Given the description of an element on the screen output the (x, y) to click on. 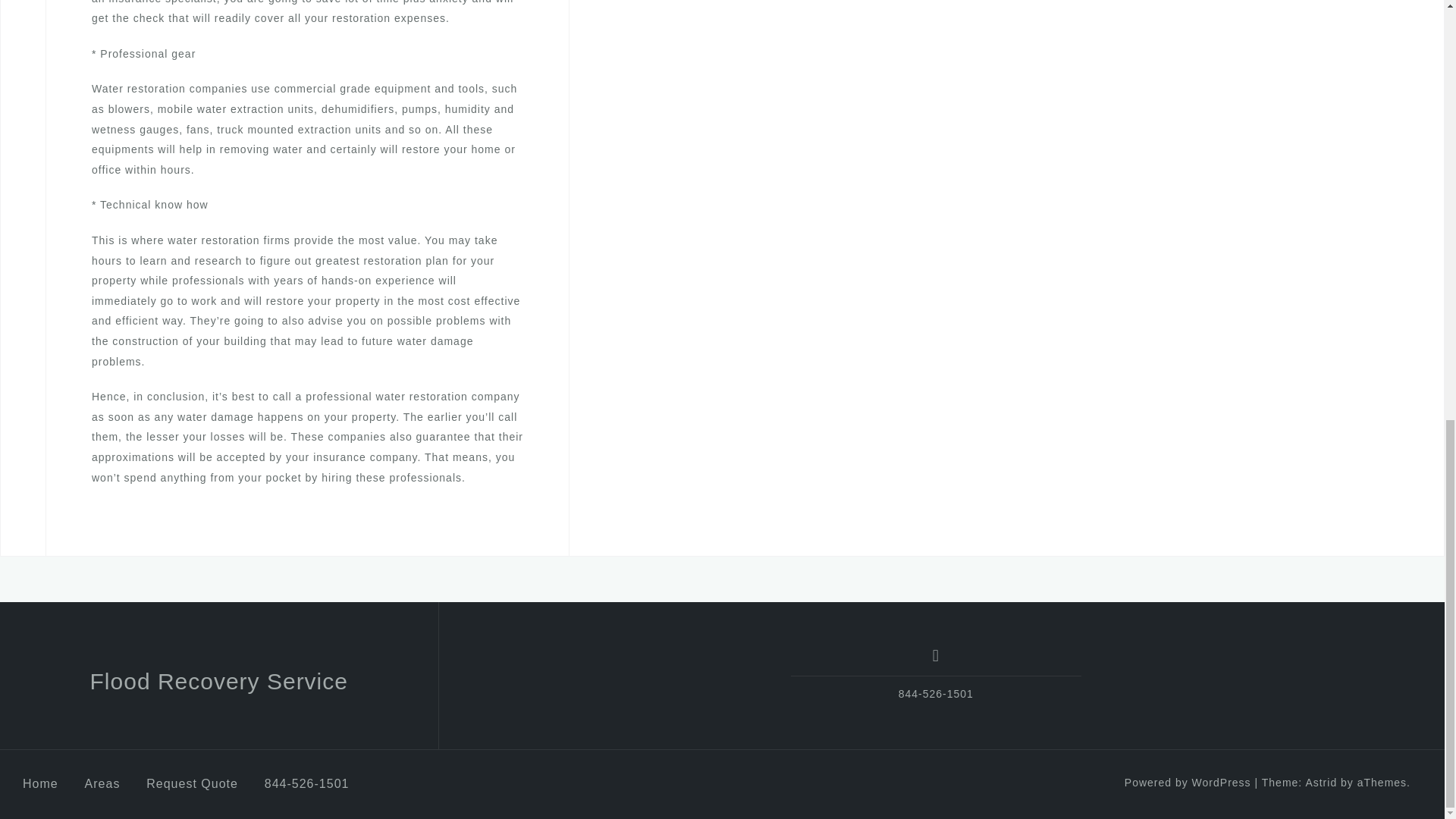
Home (40, 783)
Astrid (1320, 782)
844-526-1501 (306, 783)
Flood Recovery Service (218, 681)
Powered by WordPress (1187, 782)
Areas (102, 783)
Request Quote (192, 783)
